Given the description of an element on the screen output the (x, y) to click on. 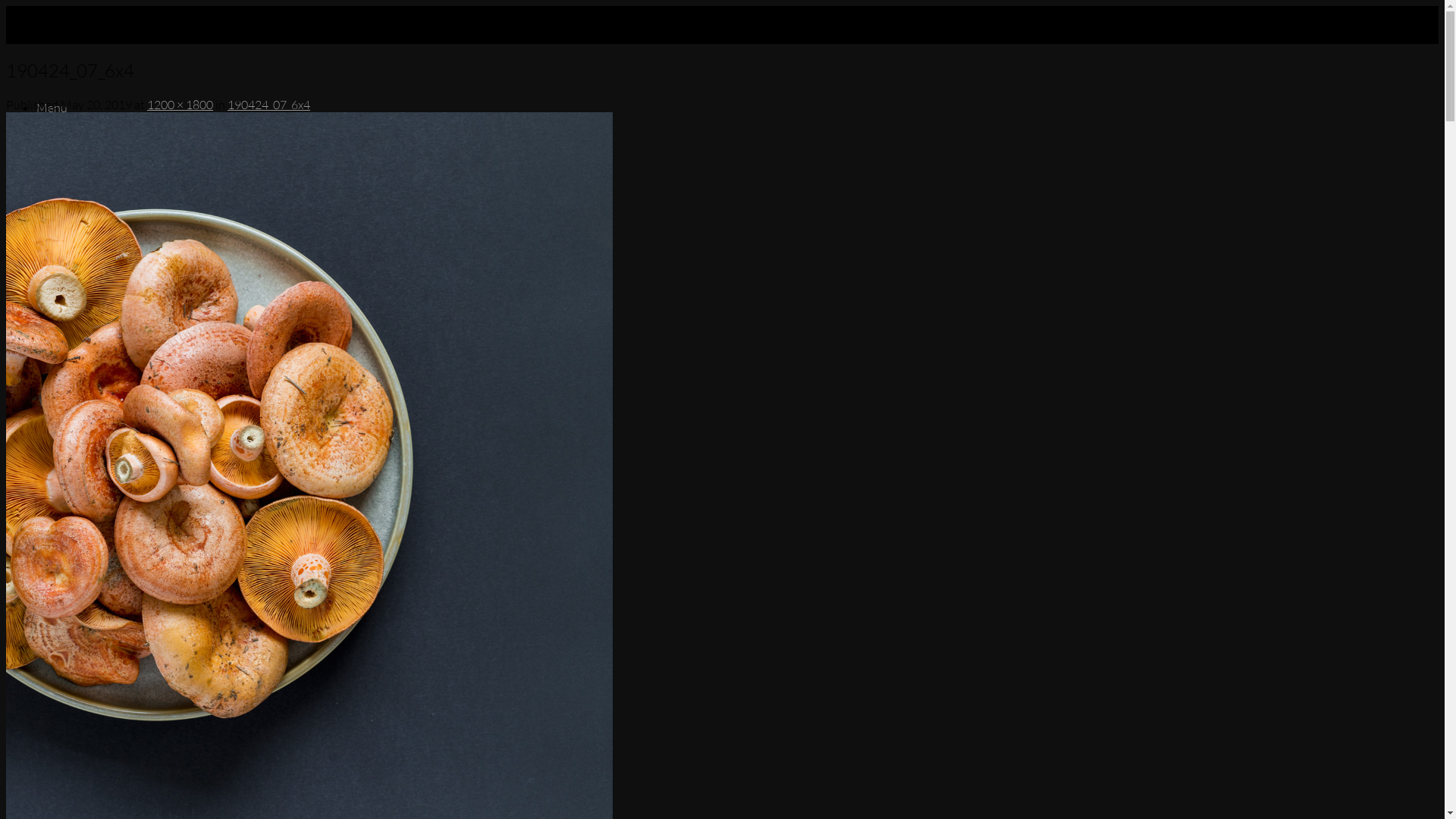
Skip to content Element type: text (5, 5)
Menu Element type: text (51, 107)
190424_07_6x4 Element type: text (268, 104)
Menu Element type: text (51, 165)
